Given the description of an element on the screen output the (x, y) to click on. 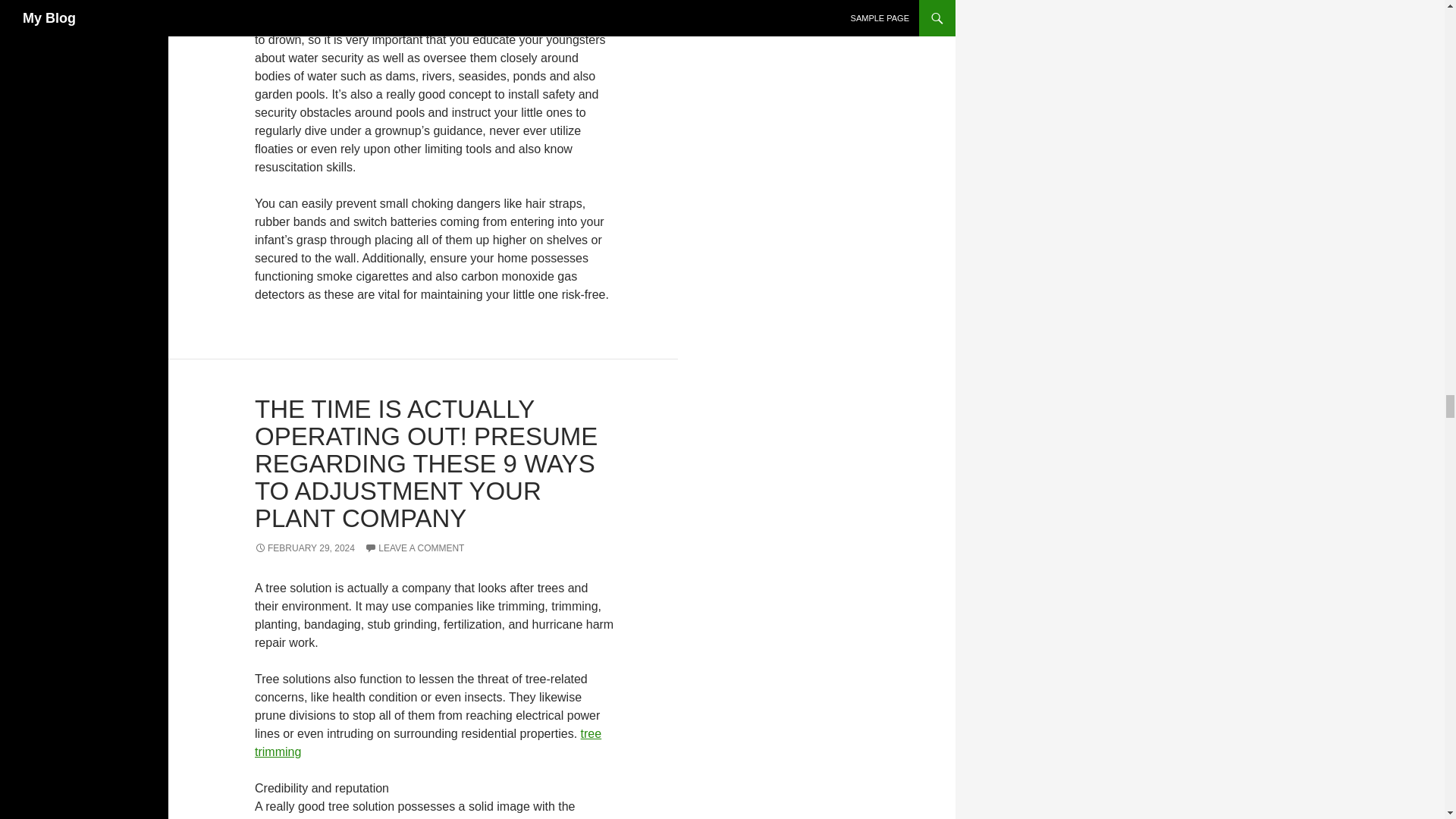
FEBRUARY 29, 2024 (304, 547)
LEAVE A COMMENT (414, 547)
tree trimming (427, 742)
